Given the description of an element on the screen output the (x, y) to click on. 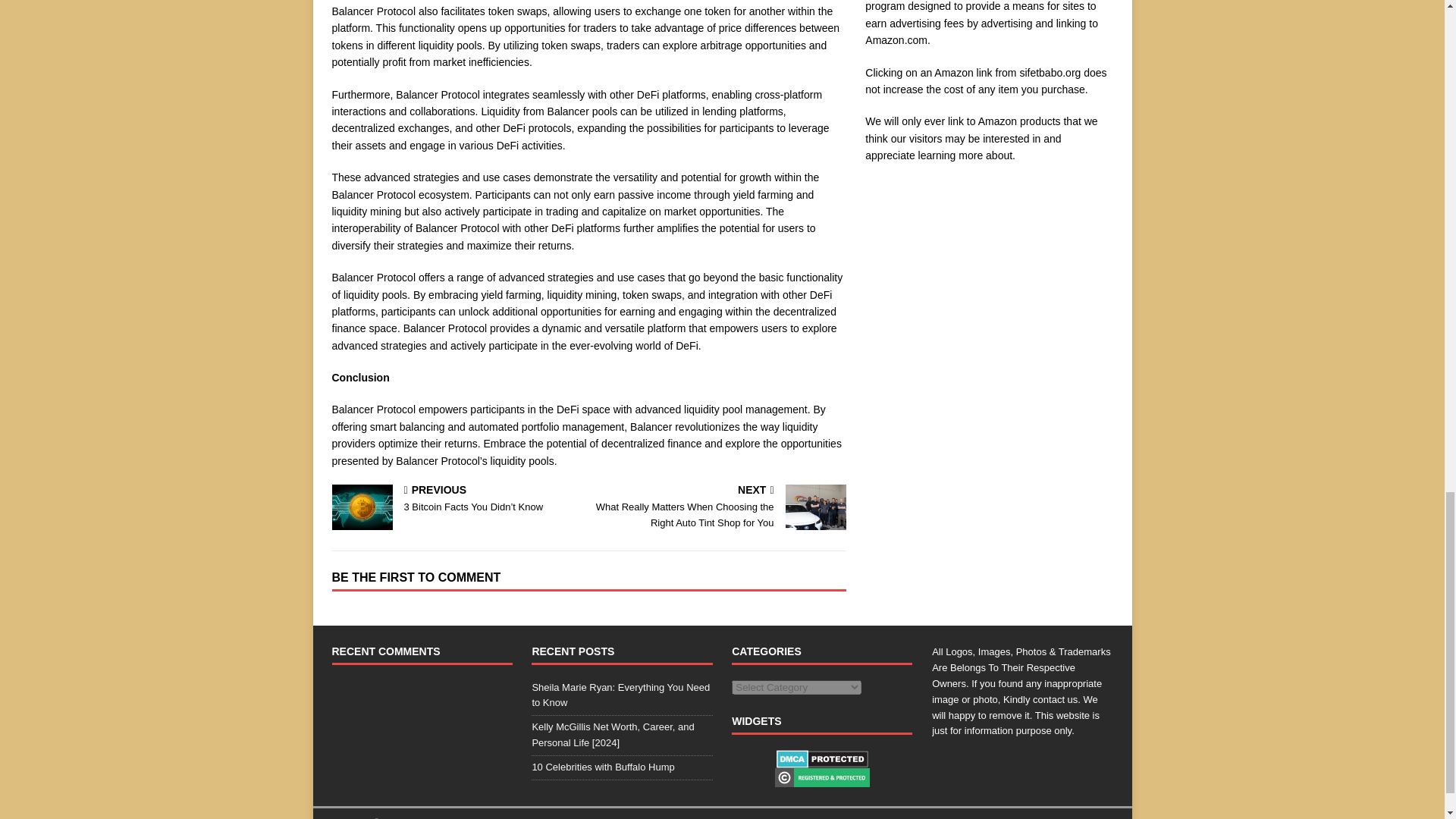
DMCA.com Protection Status (821, 758)
